Given the description of an element on the screen output the (x, y) to click on. 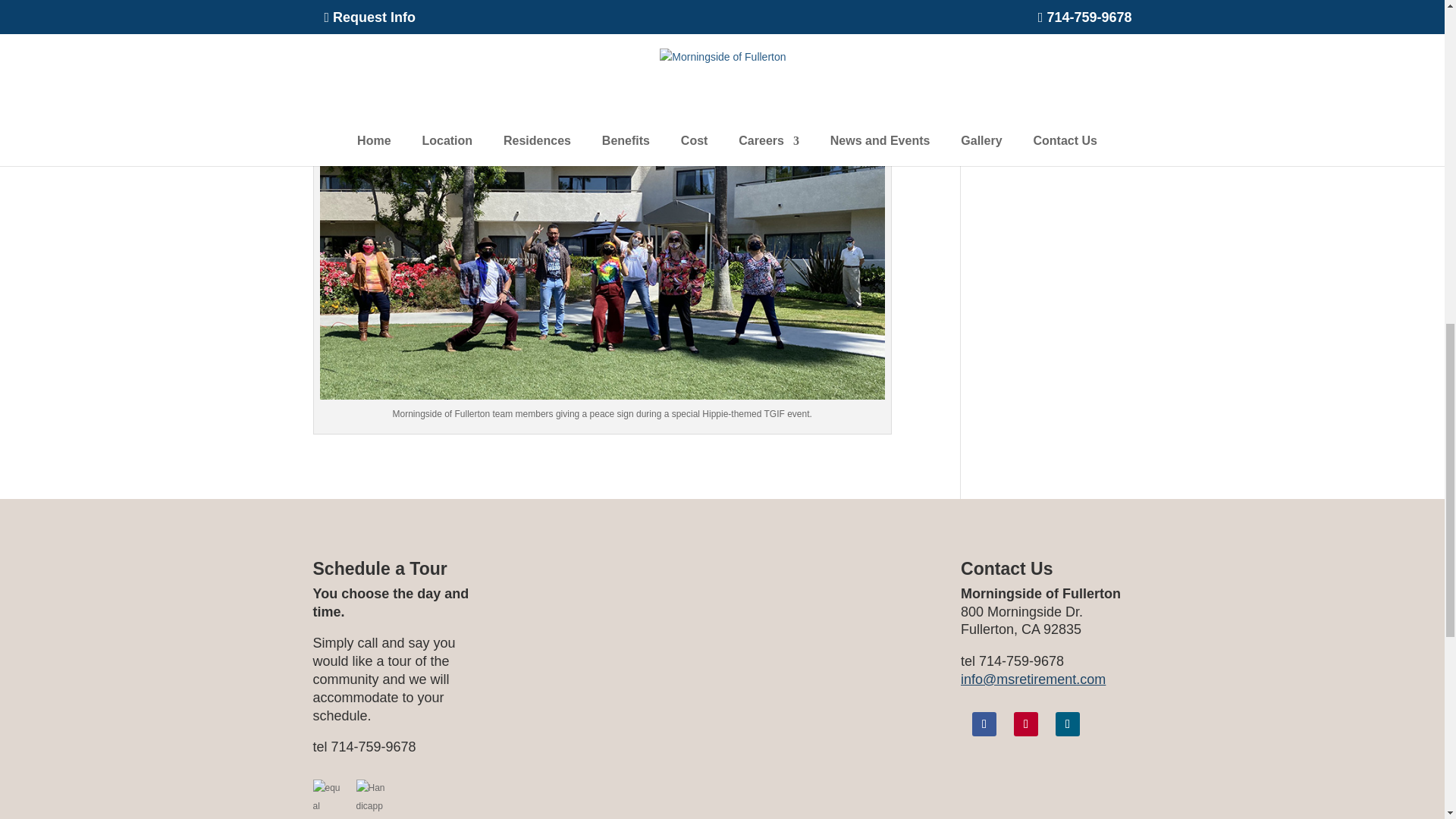
icon home (328, 795)
Follow on Facebook (983, 723)
Follow on Instagram (1025, 723)
Follow (1025, 723)
Follow (983, 723)
Follow (1067, 723)
icon home (372, 795)
What Our Family Thinks of Morningside of Fullerton, CA (721, 689)
Follow on Twitter (1067, 723)
